Given the description of an element on the screen output the (x, y) to click on. 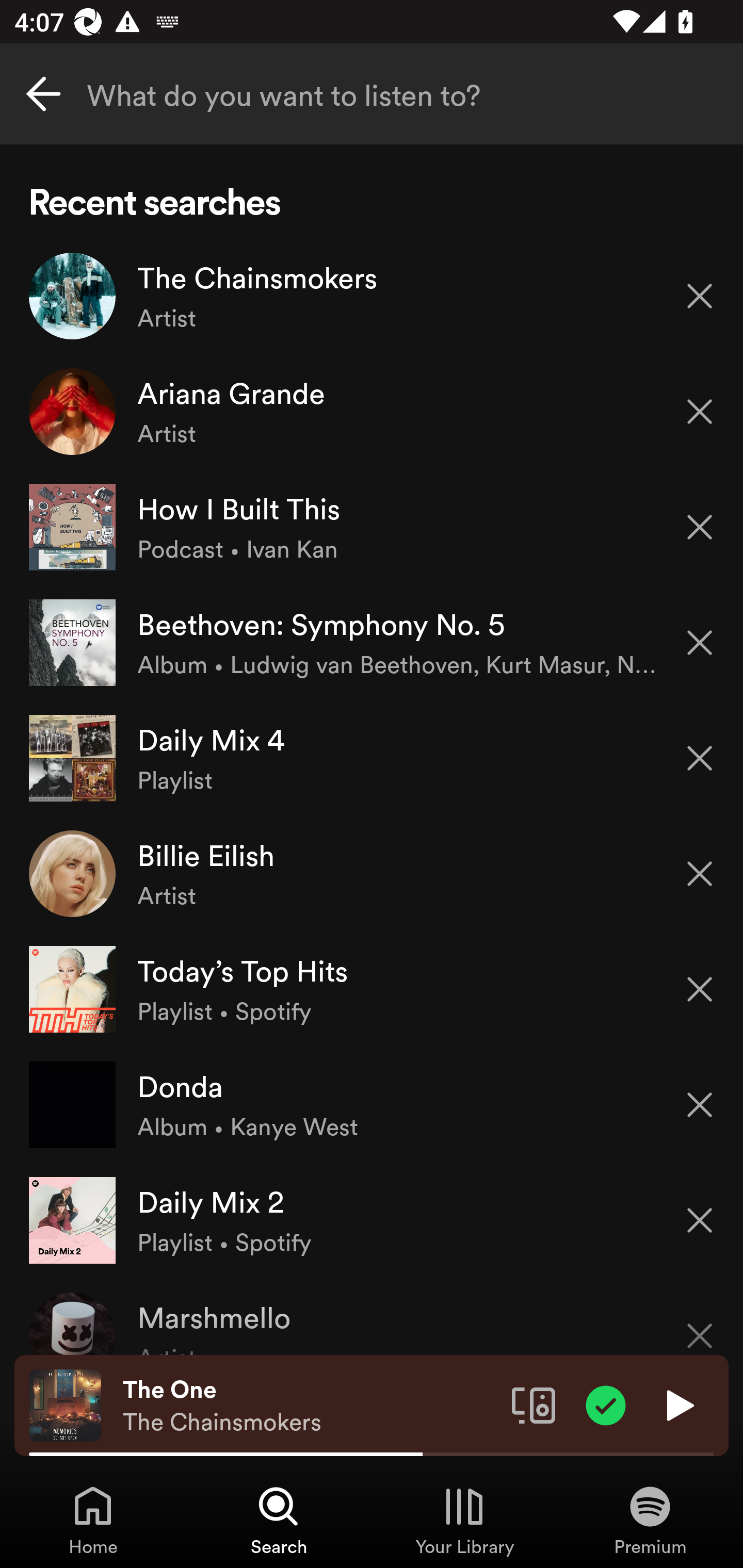
What do you want to listen to? (371, 93)
Cancel (43, 93)
The Chainsmokers Artist Remove (371, 296)
Remove (699, 295)
Ariana Grande Artist Remove (371, 411)
Remove (699, 411)
How I Built This Podcast • Ivan Kan Remove (371, 526)
Remove (699, 527)
Remove (699, 642)
Daily Mix 4 Playlist Remove (371, 757)
Remove (699, 758)
Billie Eilish Artist Remove (371, 873)
Remove (699, 874)
Today’s Top Hits Playlist • Spotify Remove (371, 989)
Remove (699, 989)
Donda Album • Kanye West Remove (371, 1104)
Remove (699, 1104)
Daily Mix 2 Playlist • Spotify Remove (371, 1219)
Remove (699, 1220)
Marshmello Artist Remove (371, 1315)
Remove (699, 1323)
The One The Chainsmokers (309, 1405)
The cover art of the currently playing track (64, 1404)
Connect to a device. Opens the devices menu (533, 1404)
Item added (605, 1404)
Play (677, 1404)
Home, Tab 1 of 4 Home Home (92, 1519)
Search, Tab 2 of 4 Search Search (278, 1519)
Your Library, Tab 3 of 4 Your Library Your Library (464, 1519)
Premium, Tab 4 of 4 Premium Premium (650, 1519)
